Given the description of an element on the screen output the (x, y) to click on. 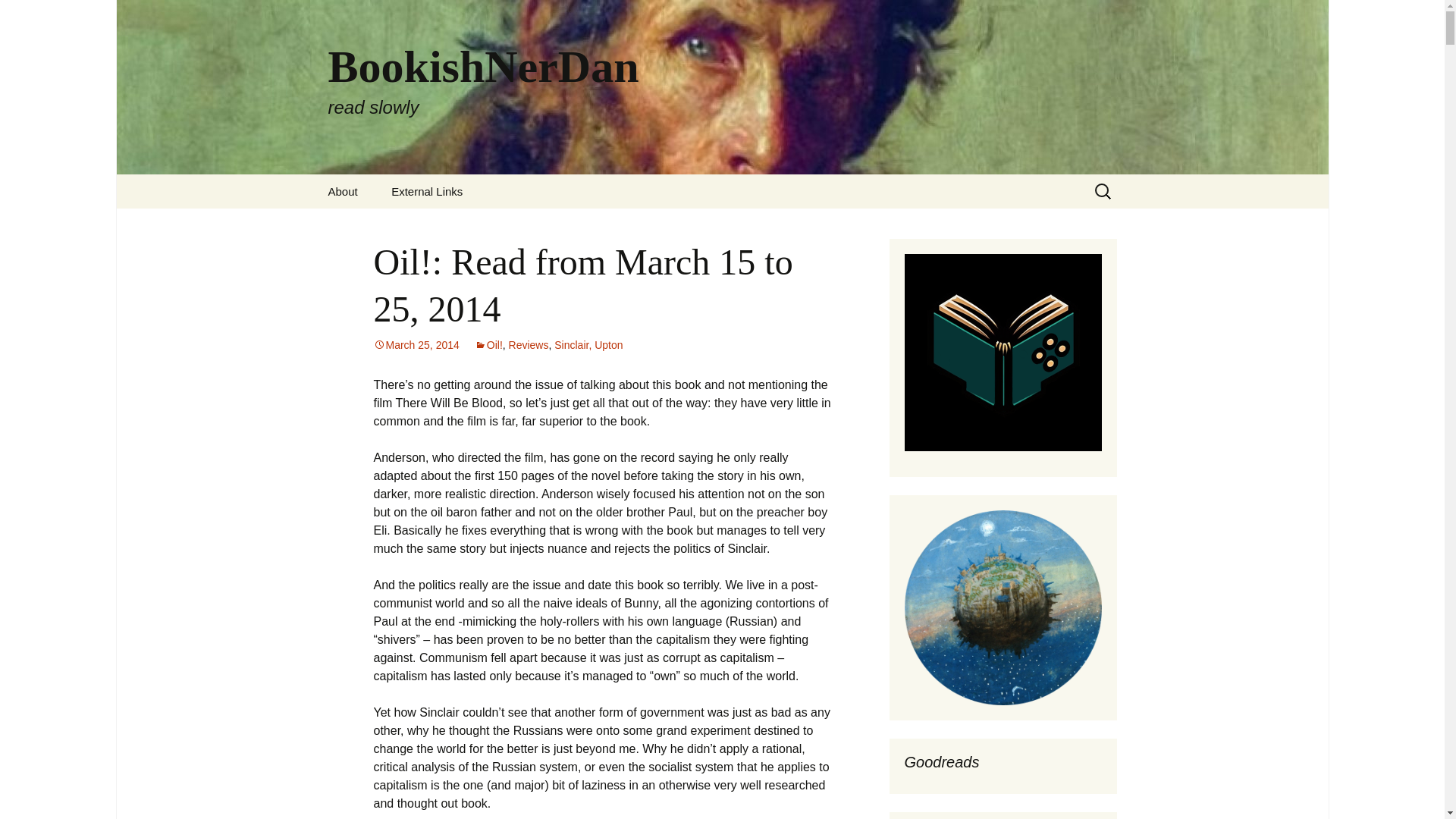
Permalink to Oil!: Read from March 15 to 25, 2014 (415, 345)
About (342, 191)
March 25, 2014 (415, 345)
Emily Dickinson Archive (488, 345)
Reviews (451, 225)
Search (528, 345)
Skip to content (18, 15)
